Given the description of an element on the screen output the (x, y) to click on. 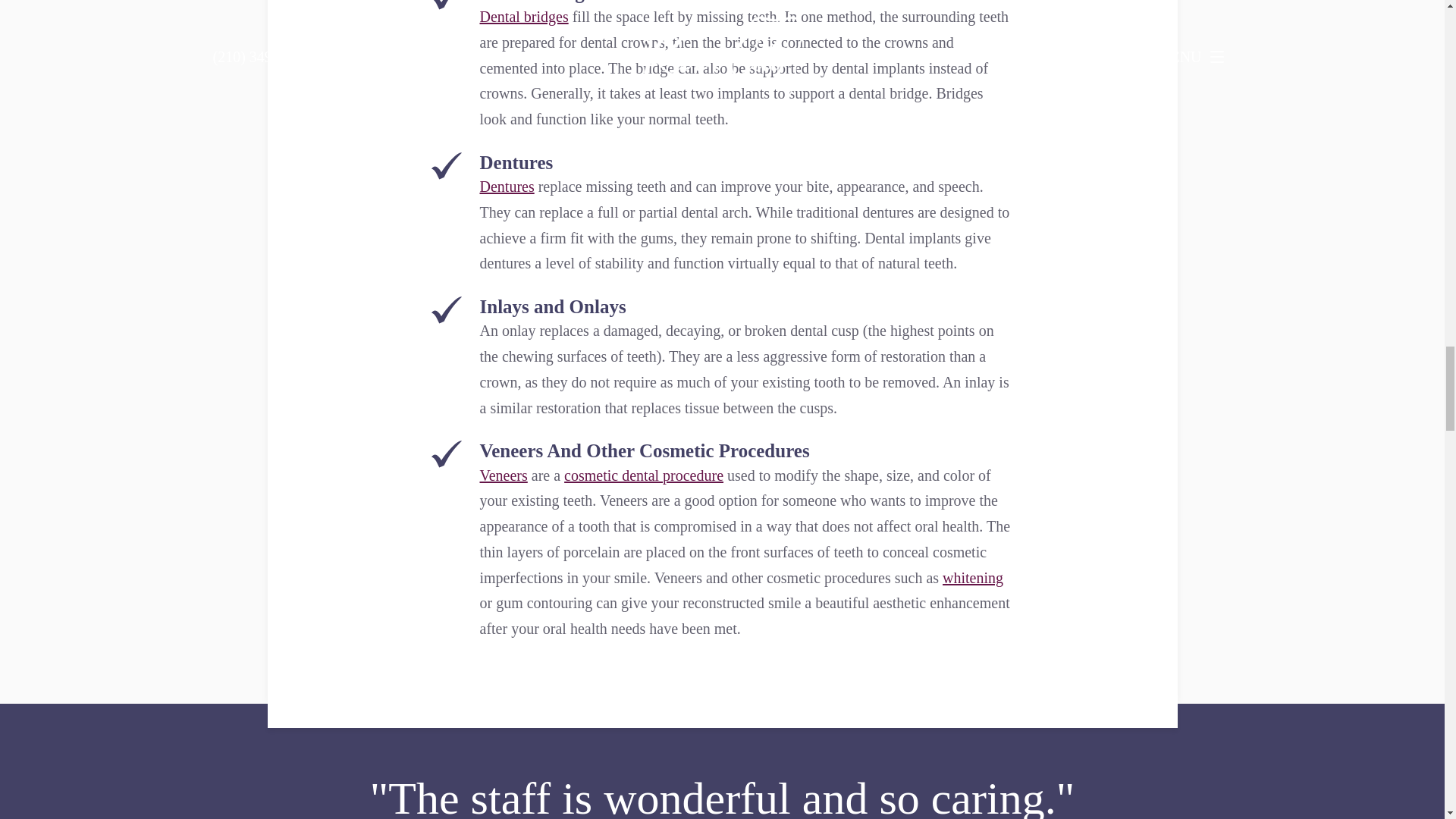
Dentures (506, 186)
cosmetic dental procedure (643, 475)
Dental bridges (523, 16)
whitening (972, 577)
Veneers (503, 475)
